Given the description of an element on the screen output the (x, y) to click on. 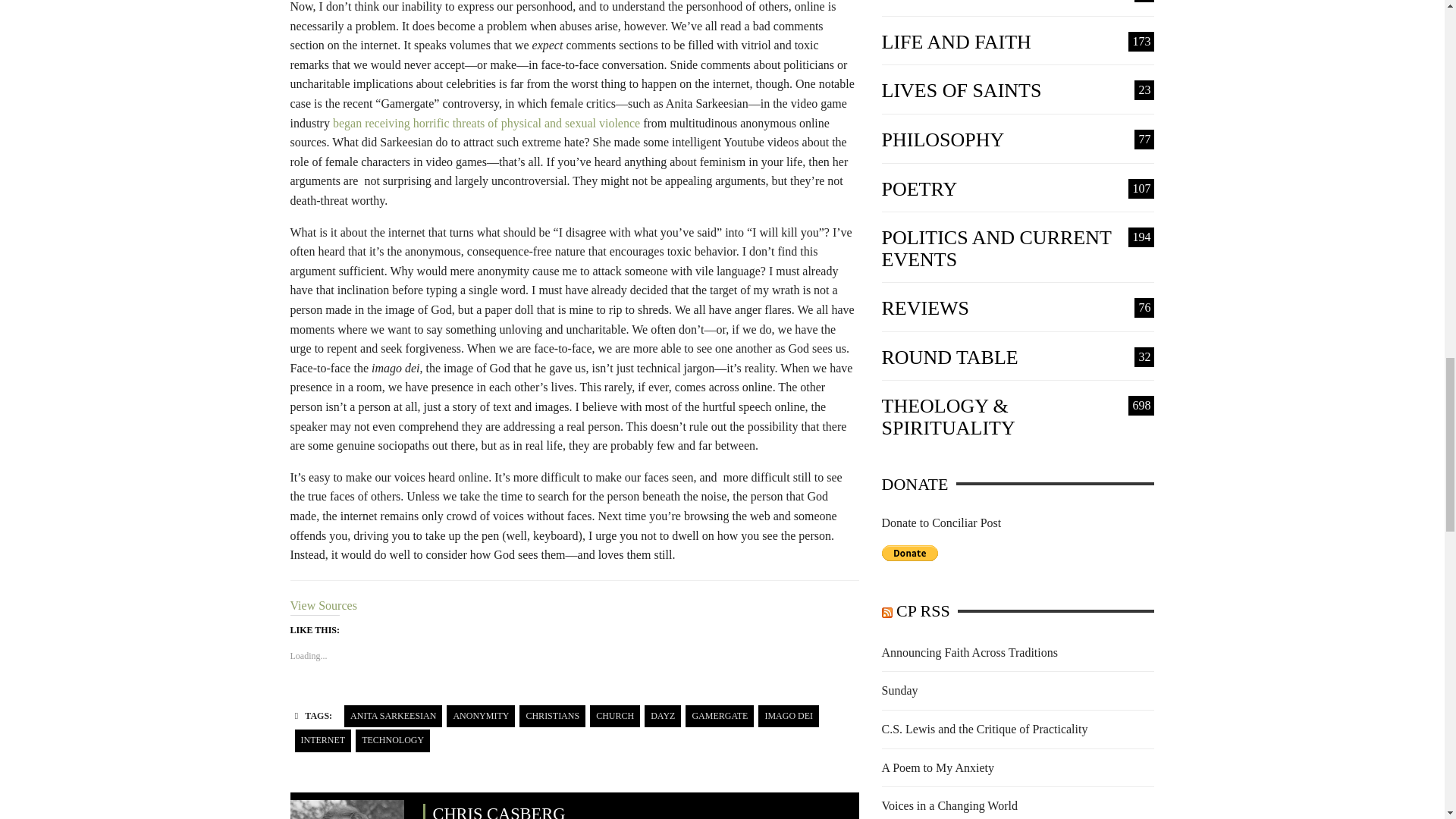
View all posts by Chris Casberg (346, 805)
